Given the description of an element on the screen output the (x, y) to click on. 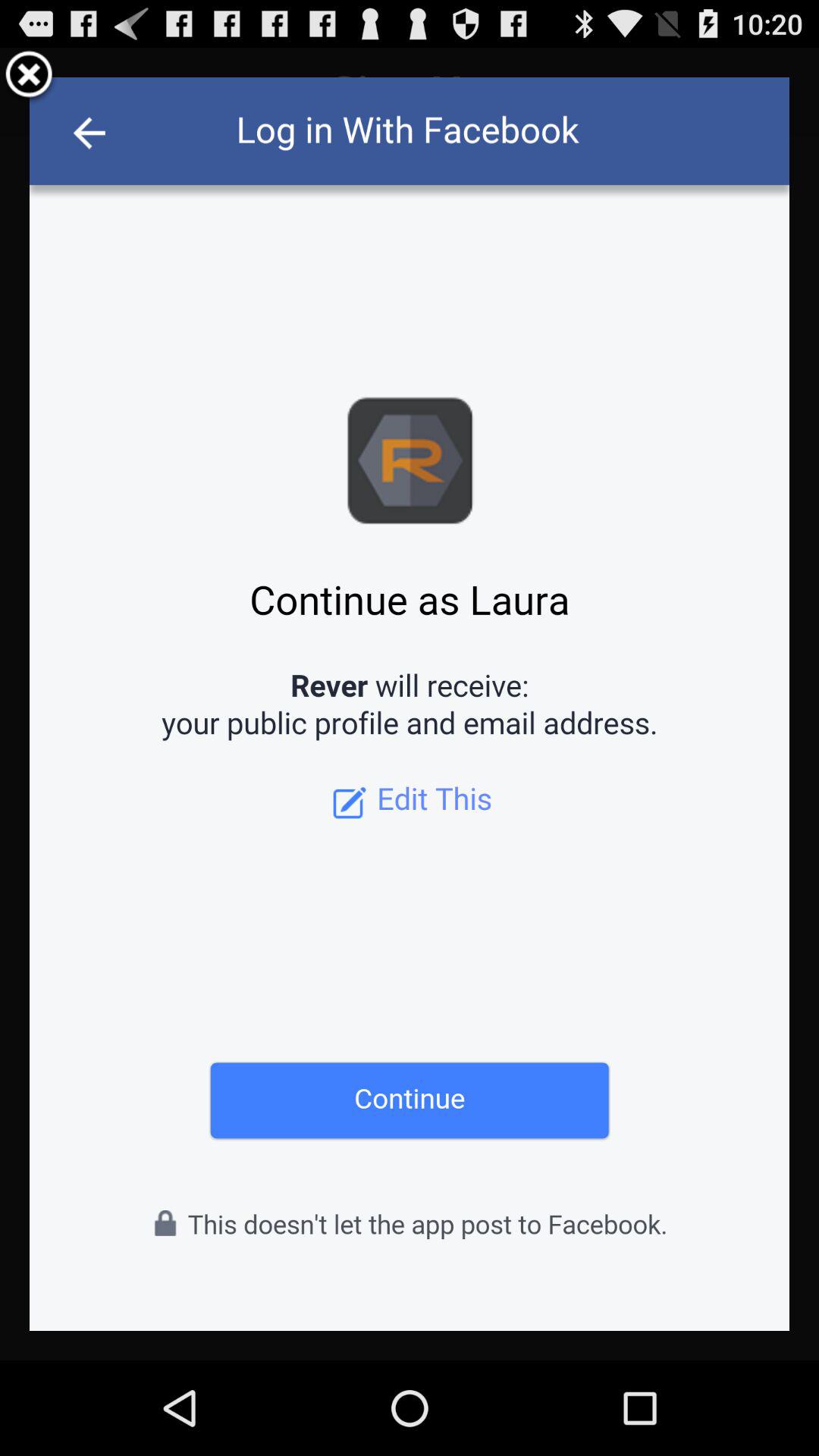
to close the current page (29, 76)
